Given the description of an element on the screen output the (x, y) to click on. 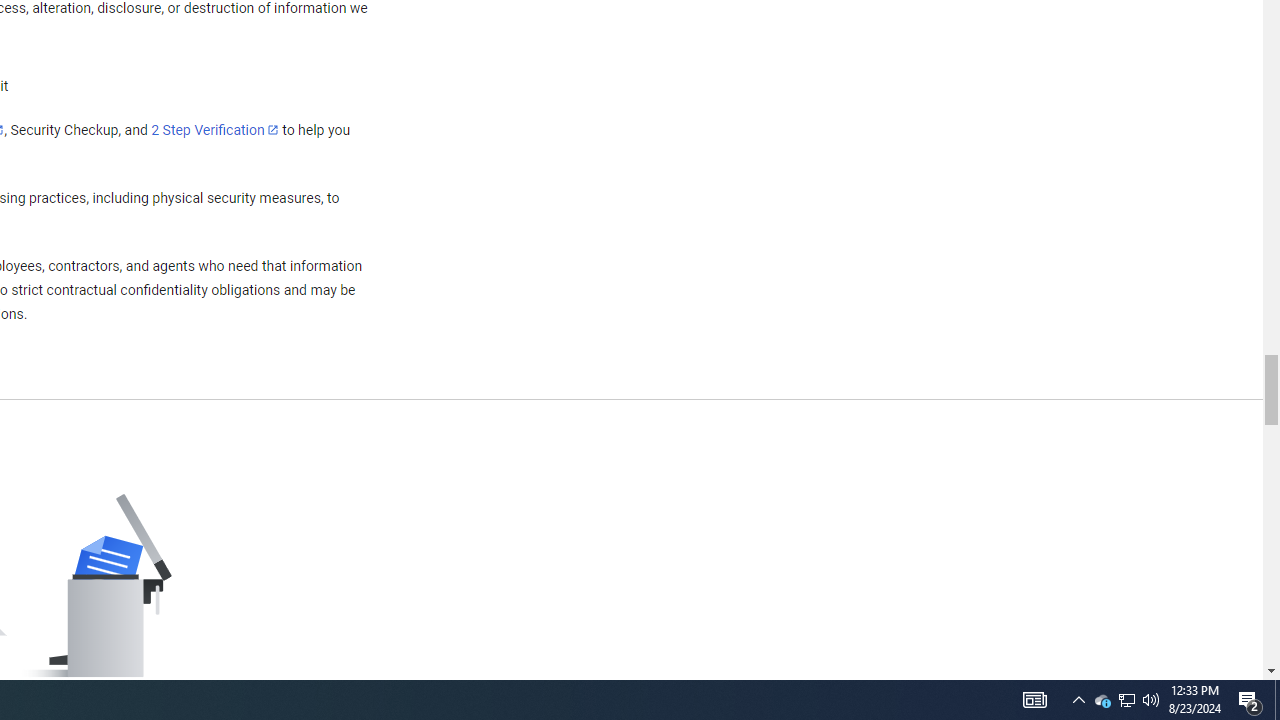
2 Step Verification (215, 129)
